Given the description of an element on the screen output the (x, y) to click on. 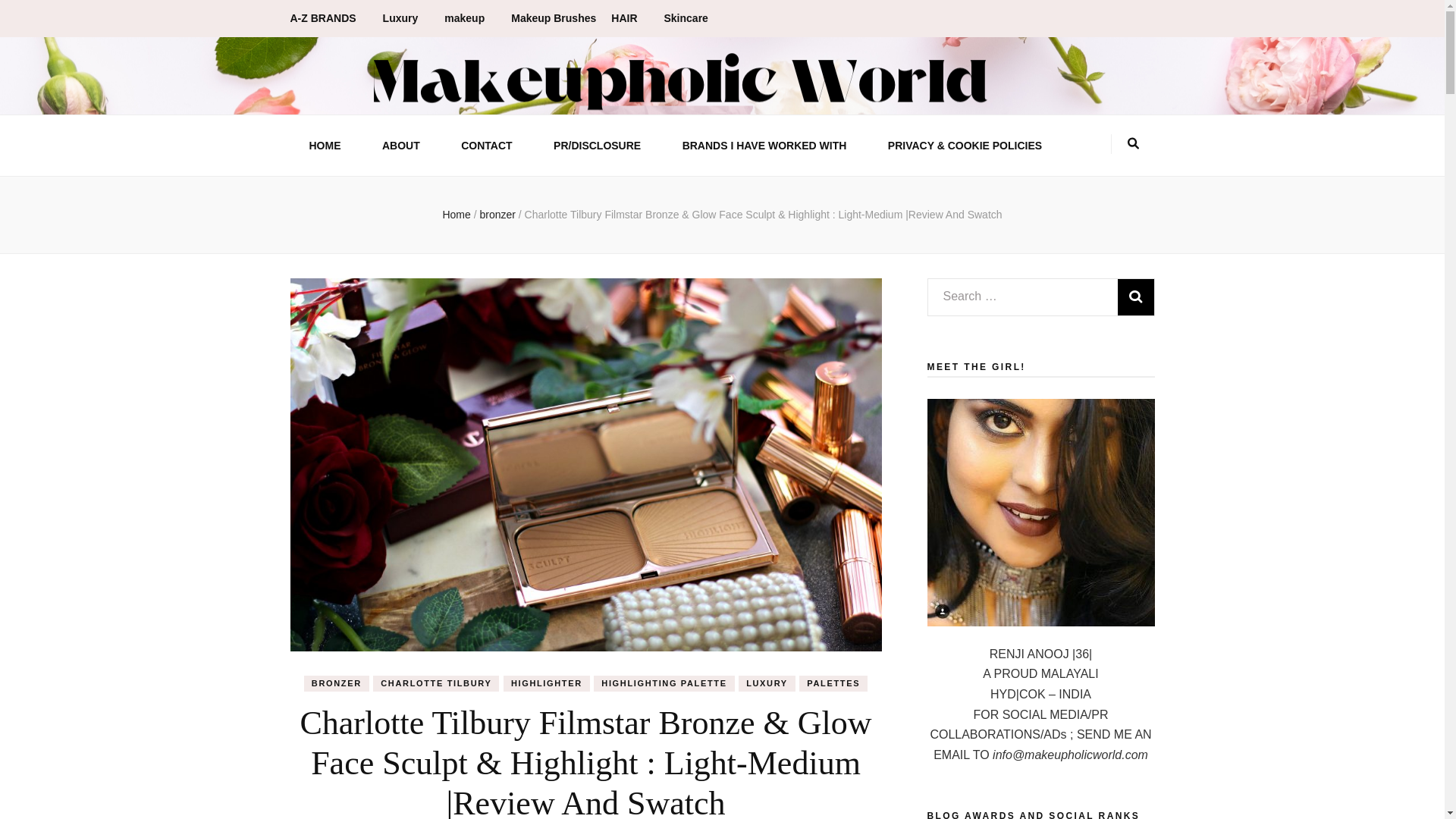
Search (1136, 297)
A-Z BRANDS (327, 18)
Search (1136, 297)
